Given the description of an element on the screen output the (x, y) to click on. 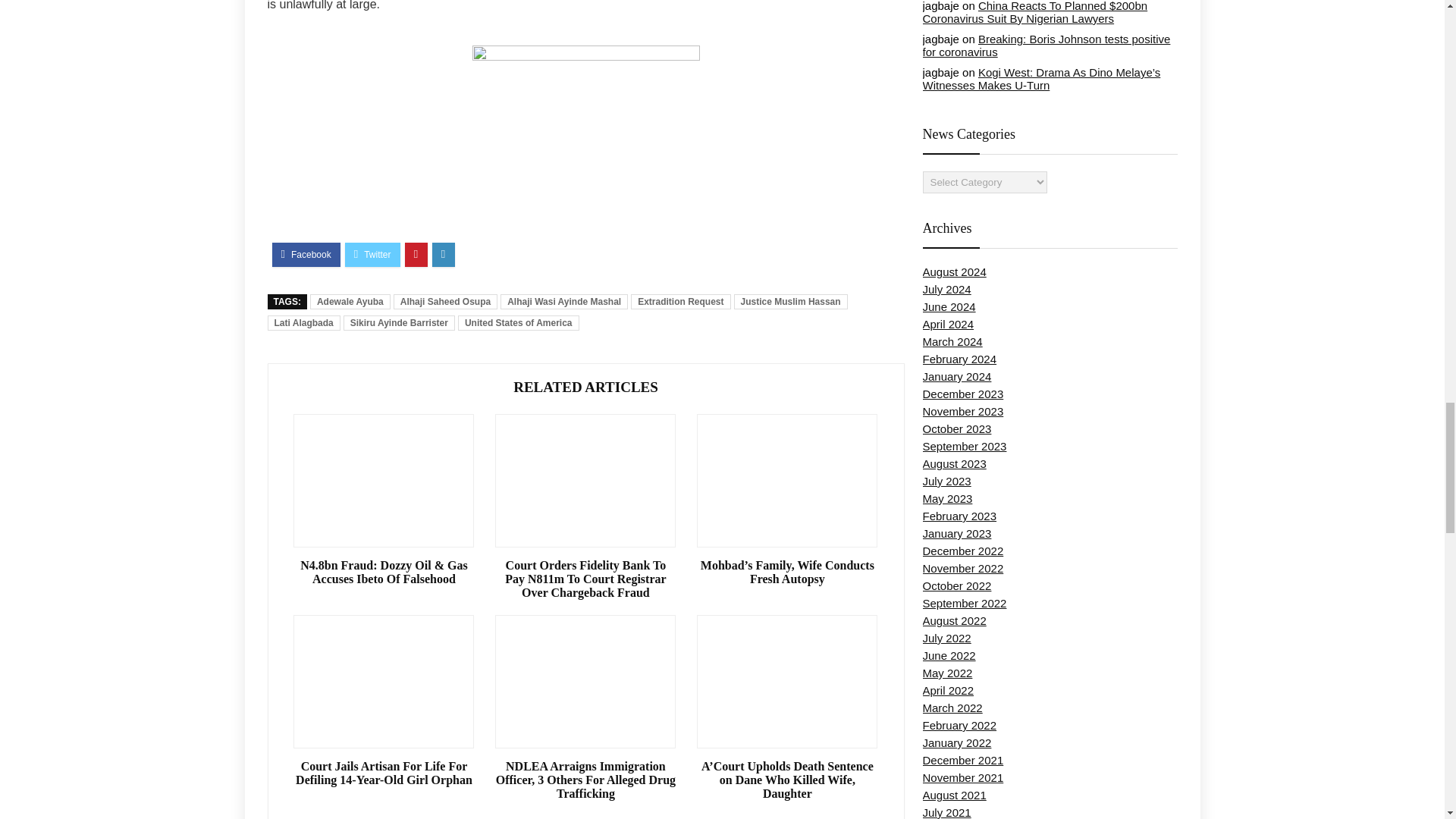
Lati Alagbada (302, 322)
Alhaji Saheed Osupa (445, 301)
Alhaji Wasi Ayinde Mashal (563, 301)
Extradition Request (680, 301)
Adewale Ayuba (350, 301)
Sikiru Ayinde Barrister (398, 322)
Justice Muslim Hassan (790, 301)
